Given the description of an element on the screen output the (x, y) to click on. 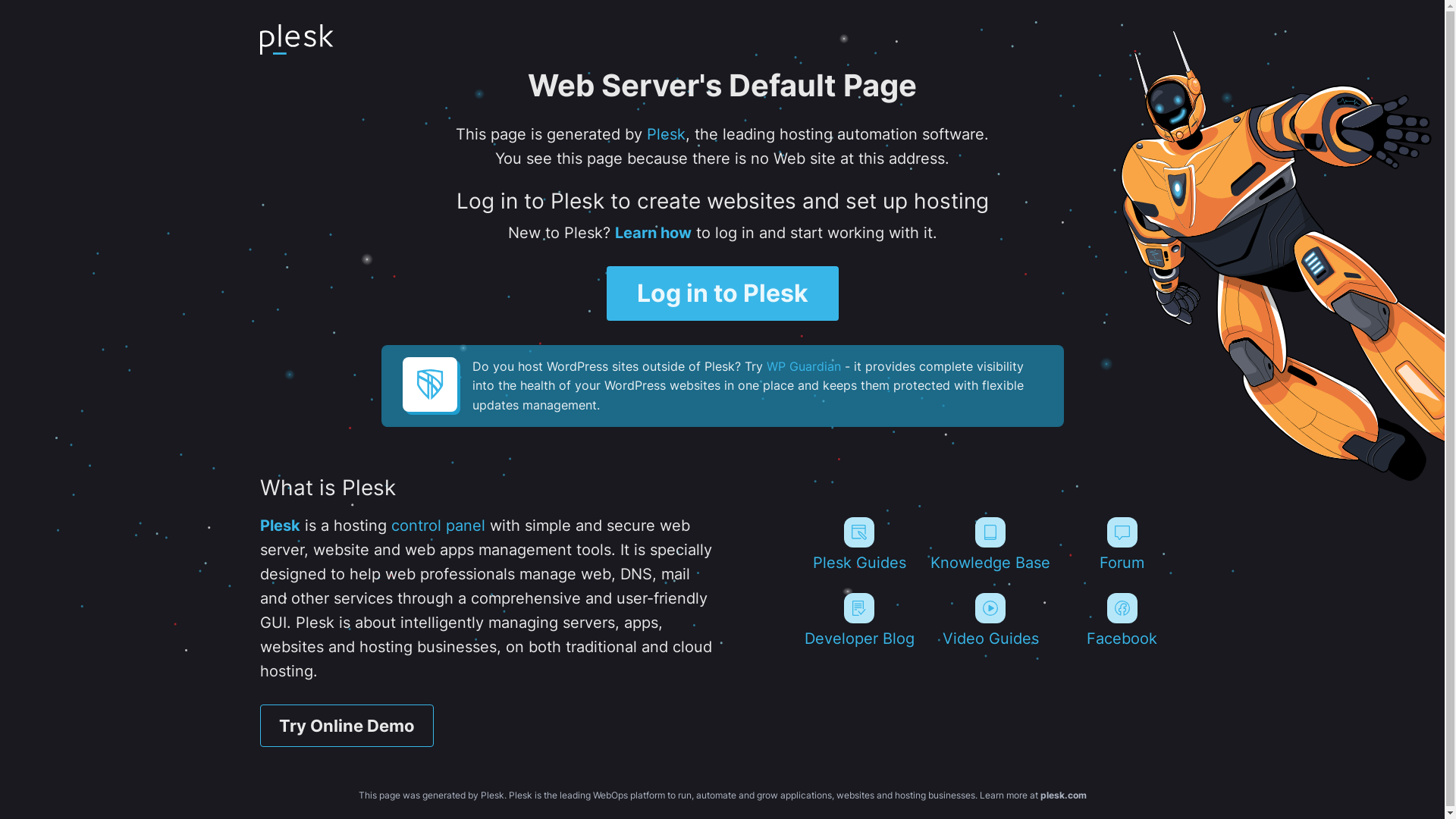
Plesk Element type: text (279, 525)
Video Guides Element type: text (990, 620)
Developer Blog Element type: text (858, 620)
WP Guardian Element type: text (802, 365)
plesk.com Element type: text (1063, 794)
Log in to Plesk Element type: text (722, 293)
Facebook Element type: text (1121, 620)
Learn how Element type: text (652, 232)
Plesk Guides Element type: text (858, 544)
Plesk Element type: text (665, 134)
Knowledge Base Element type: text (990, 544)
control panel Element type: text (438, 525)
Forum Element type: text (1121, 544)
Try Online Demo Element type: text (346, 725)
